Given the description of an element on the screen output the (x, y) to click on. 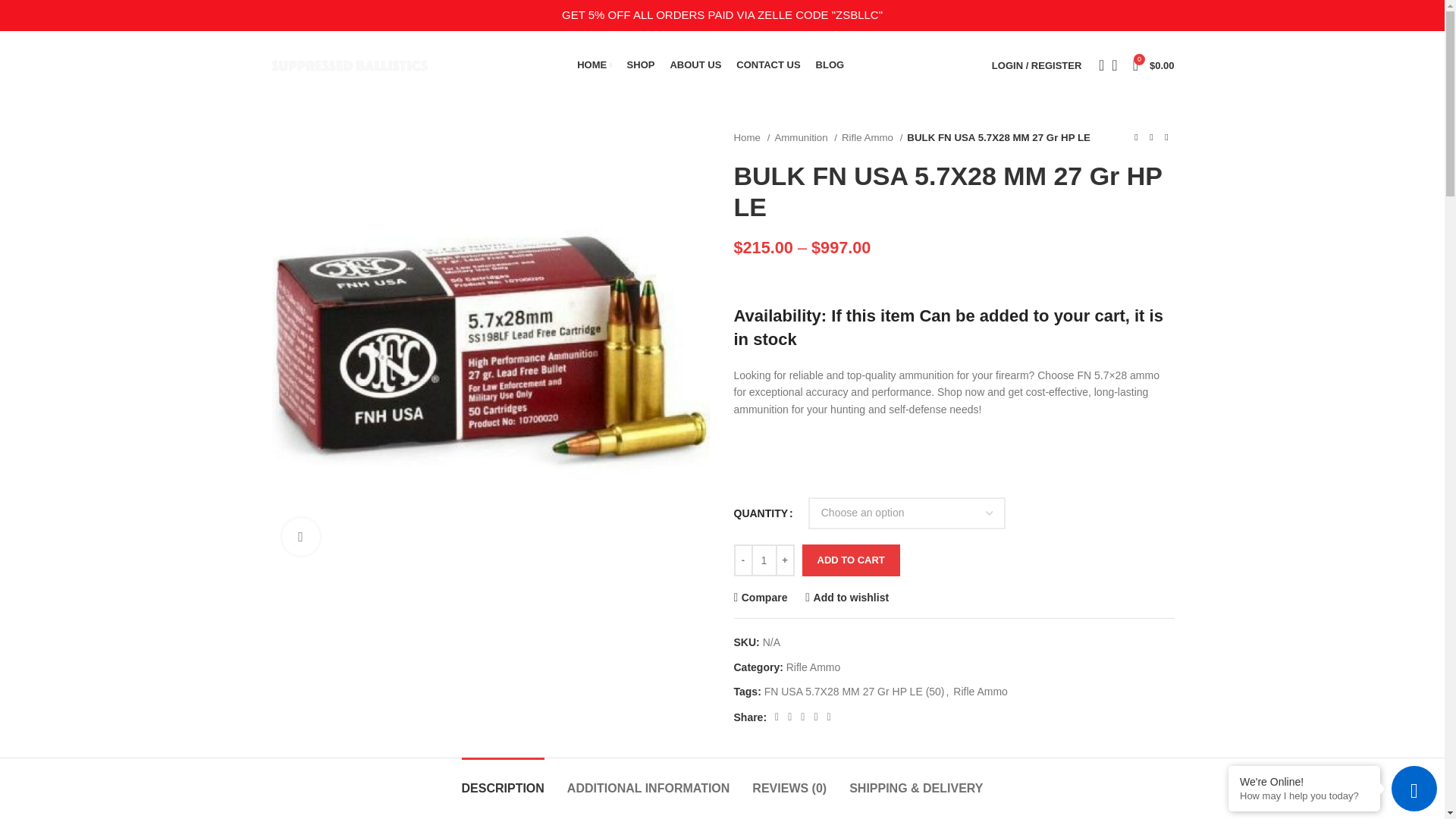
ADDITIONAL INFORMATION (648, 780)
CONTACT US (767, 64)
SHOP (641, 64)
BLOG (829, 64)
Home (751, 137)
Ammunition (805, 137)
ABOUT US (694, 64)
ADD TO CART (850, 560)
HOME (593, 64)
DESCRIPTION (502, 780)
Rifle Ammo (871, 137)
Compare (760, 596)
My account (1036, 64)
Rifle Ammo (813, 666)
